Given the description of an element on the screen output the (x, y) to click on. 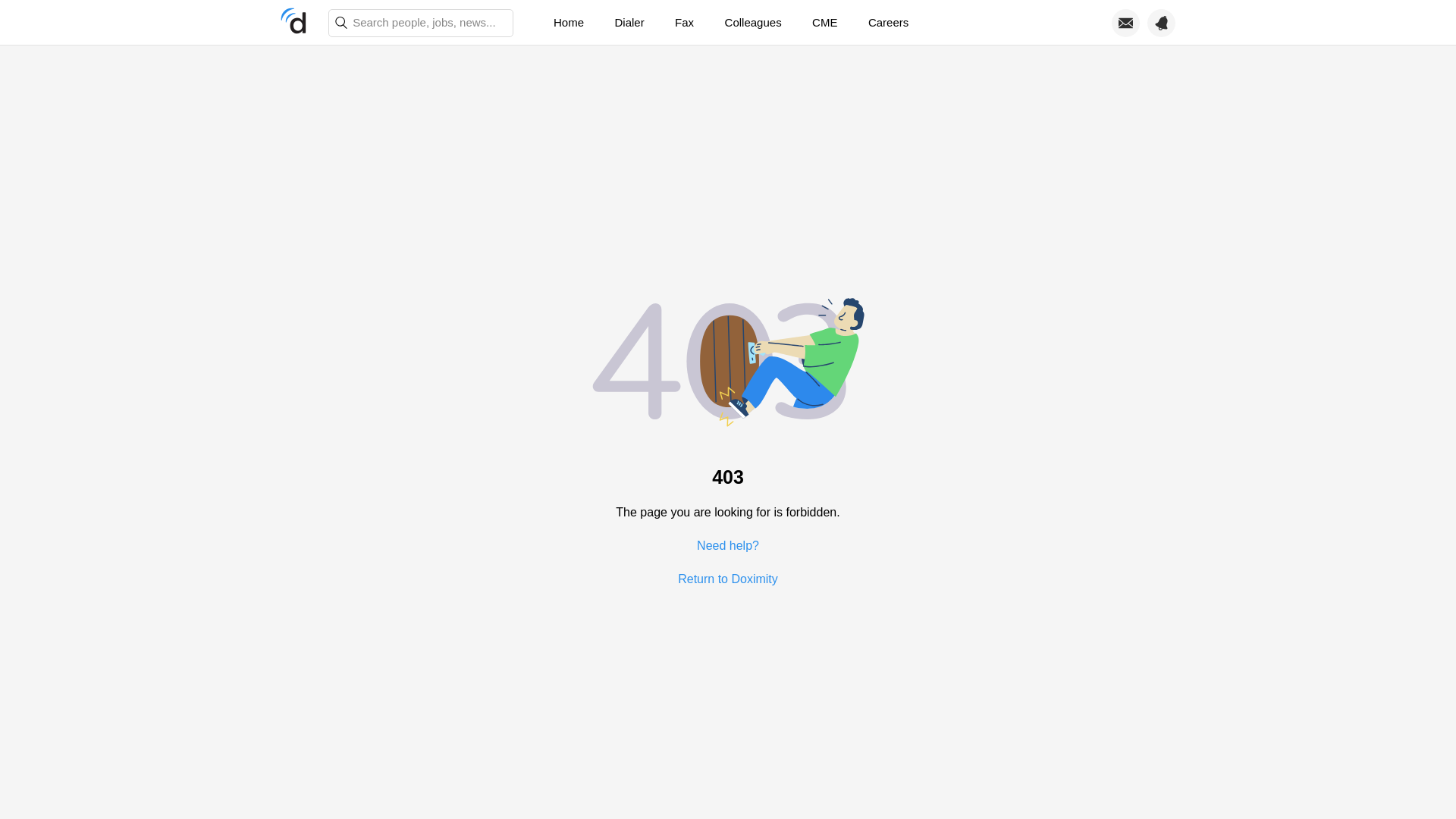
CME (823, 22)
Dialer (628, 22)
Need help? (727, 544)
Return to Doximity (727, 577)
Home (568, 22)
Search people, jobs, news... (421, 22)
Fax (684, 22)
Careers (887, 22)
Colleagues (752, 22)
